Given the description of an element on the screen output the (x, y) to click on. 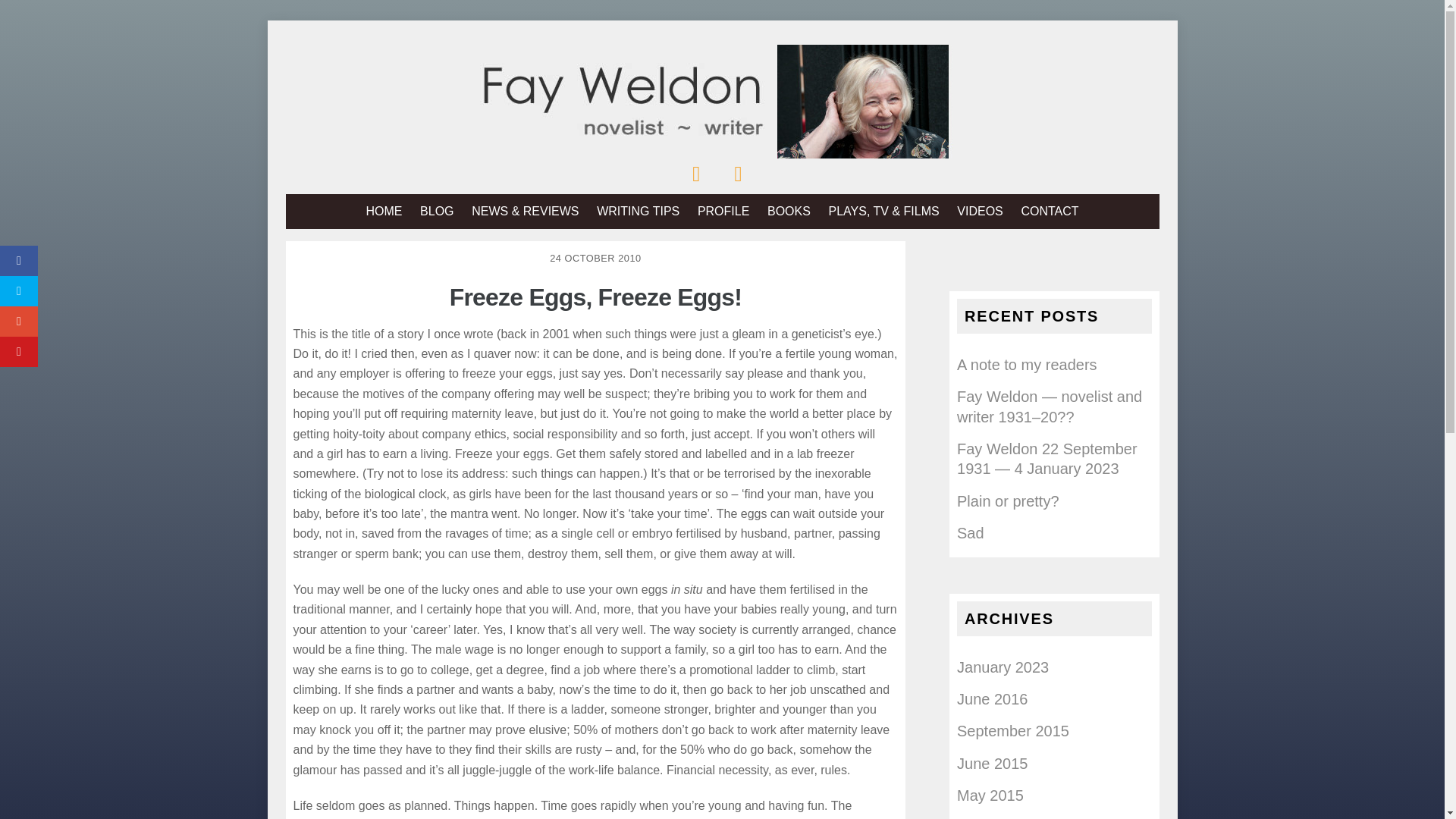
VIDEOS (980, 211)
Sad (970, 532)
June 2015 (991, 763)
September 2015 (1012, 730)
BLOG (436, 211)
May 2015 (989, 795)
CONTACT (1049, 211)
HOME (383, 211)
PROFILE (723, 211)
Plain or pretty? (1007, 501)
